Given the description of an element on the screen output the (x, y) to click on. 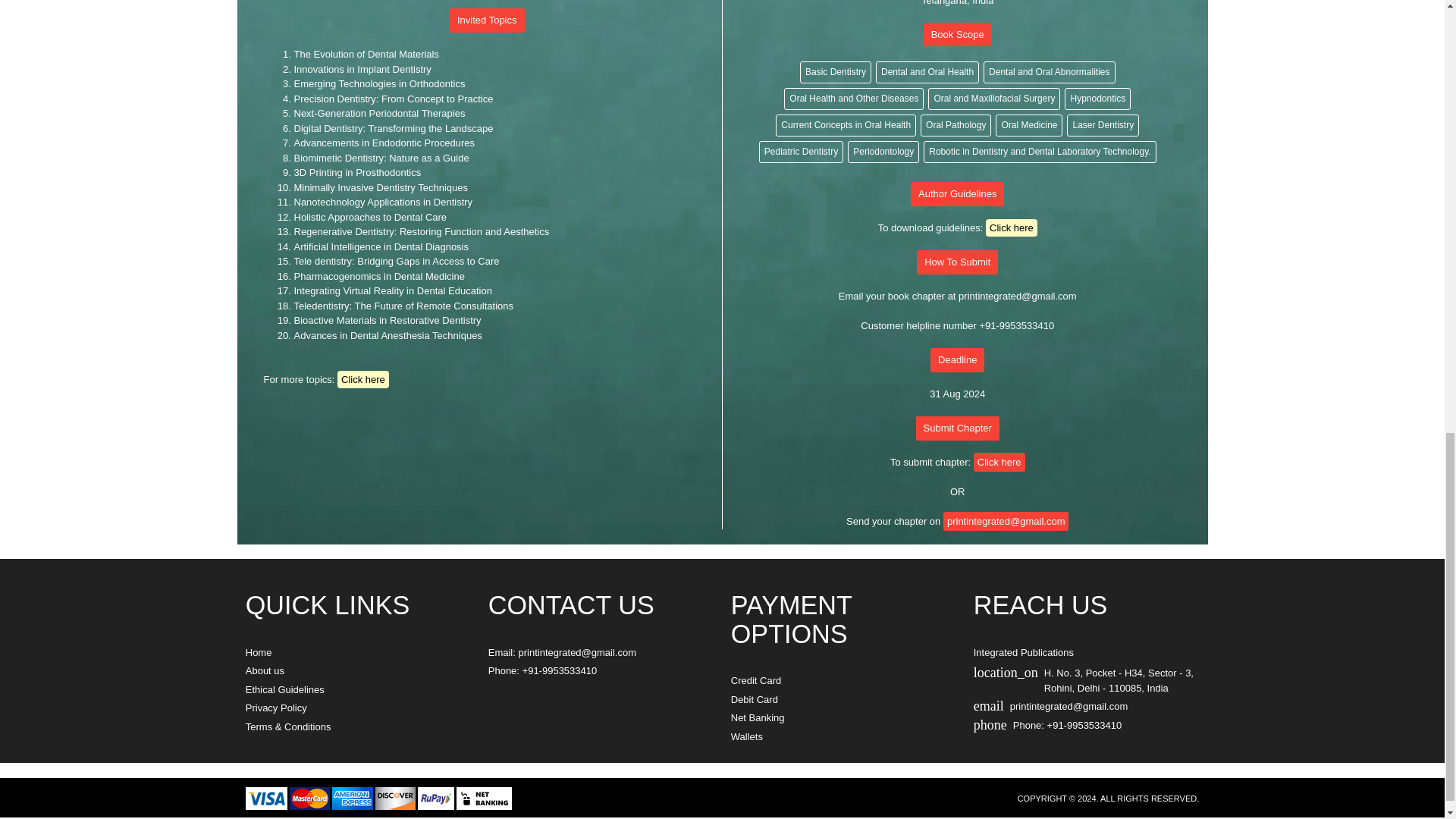
Ethical Guidelines (285, 689)
Click here (362, 379)
Author Guidelines (957, 193)
Home (259, 652)
About us (264, 670)
To submit chapter: Click here (957, 461)
To download guidelines: Click here (956, 227)
Privacy Policy (276, 707)
